Given the description of an element on the screen output the (x, y) to click on. 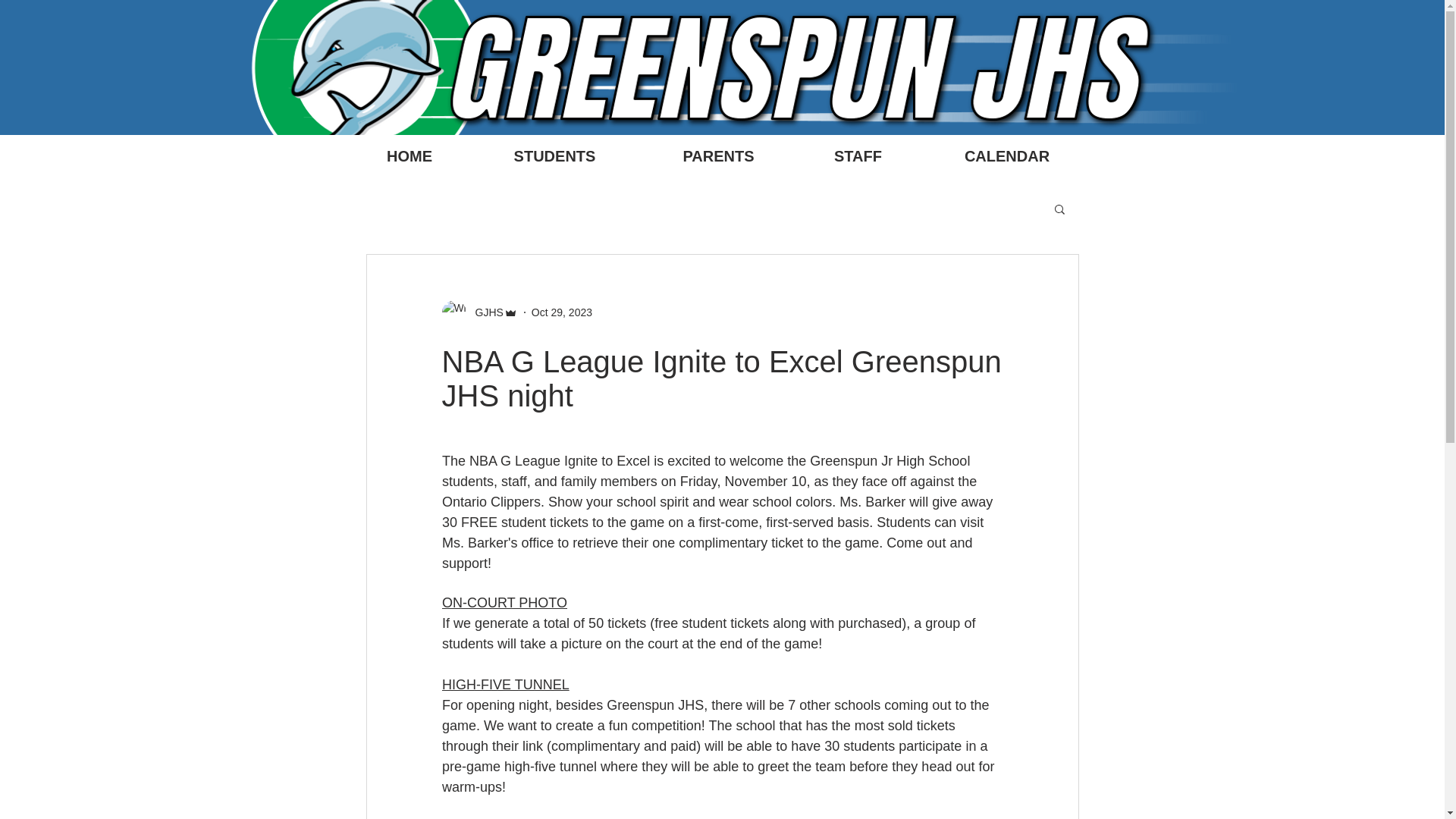
HOME (408, 156)
GJHS (483, 312)
Oct 29, 2023 (561, 312)
